Given the description of an element on the screen output the (x, y) to click on. 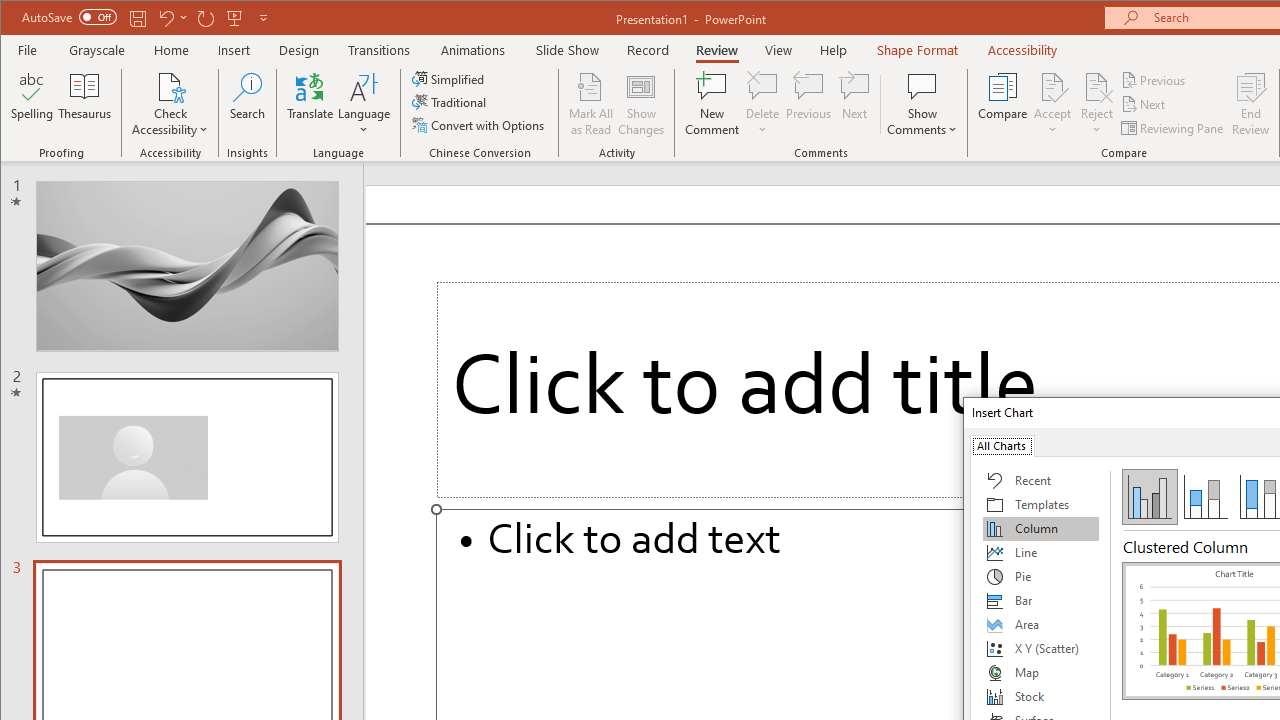
X Y (Scatter) (1041, 648)
Clustered Column (1149, 496)
Convert with Options... (479, 124)
